Given the description of an element on the screen output the (x, y) to click on. 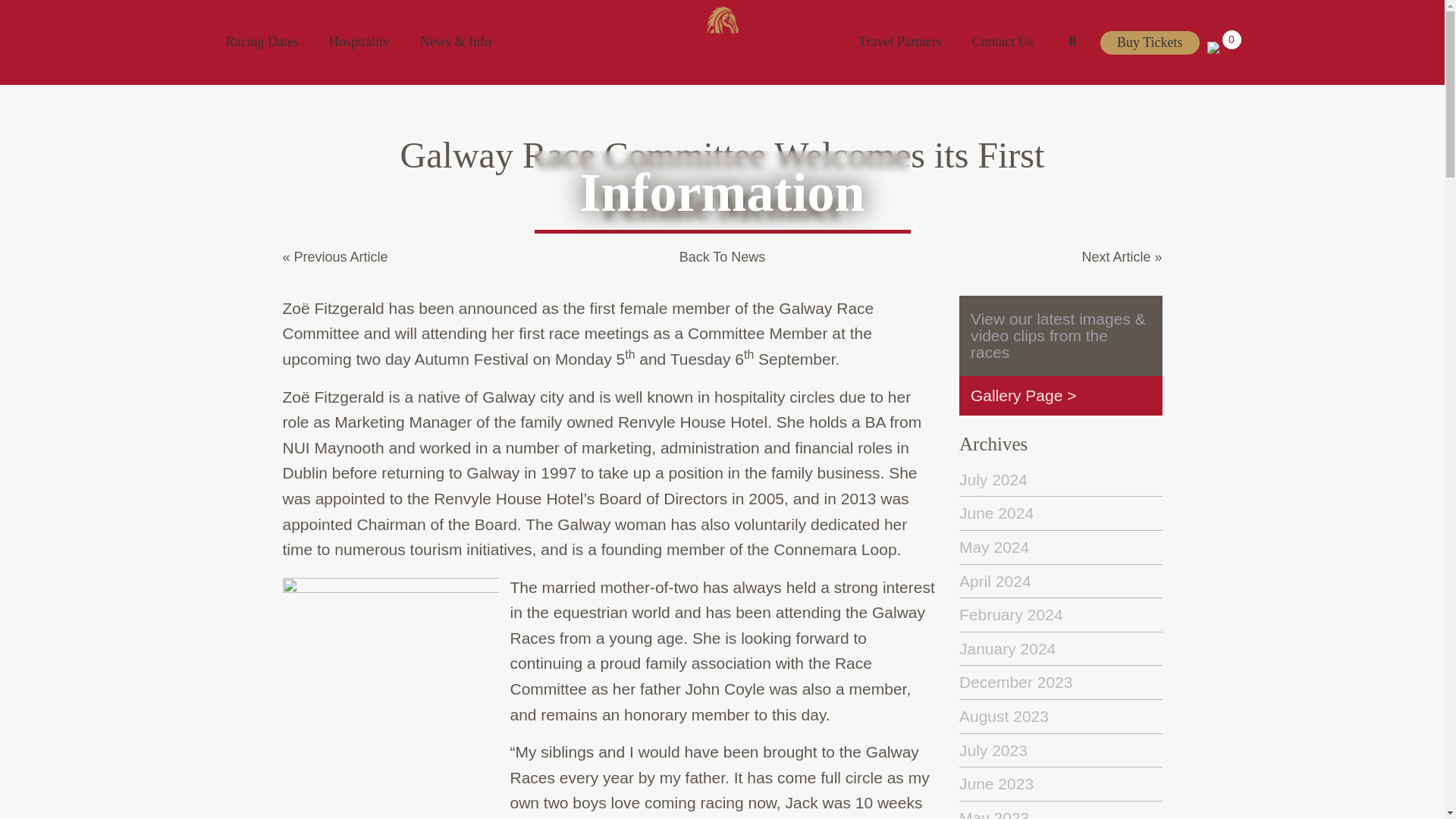
Summer Festival Competition (437, 14)
Contact Us (1002, 42)
0 (1220, 46)
Shop Window Competition 2024 (614, 14)
Racing Dates (262, 42)
Hospitality (359, 42)
Travel Partners (899, 42)
Buy Tickets (1149, 42)
Latest News (309, 14)
July 2024 (993, 479)
